Given the description of an element on the screen output the (x, y) to click on. 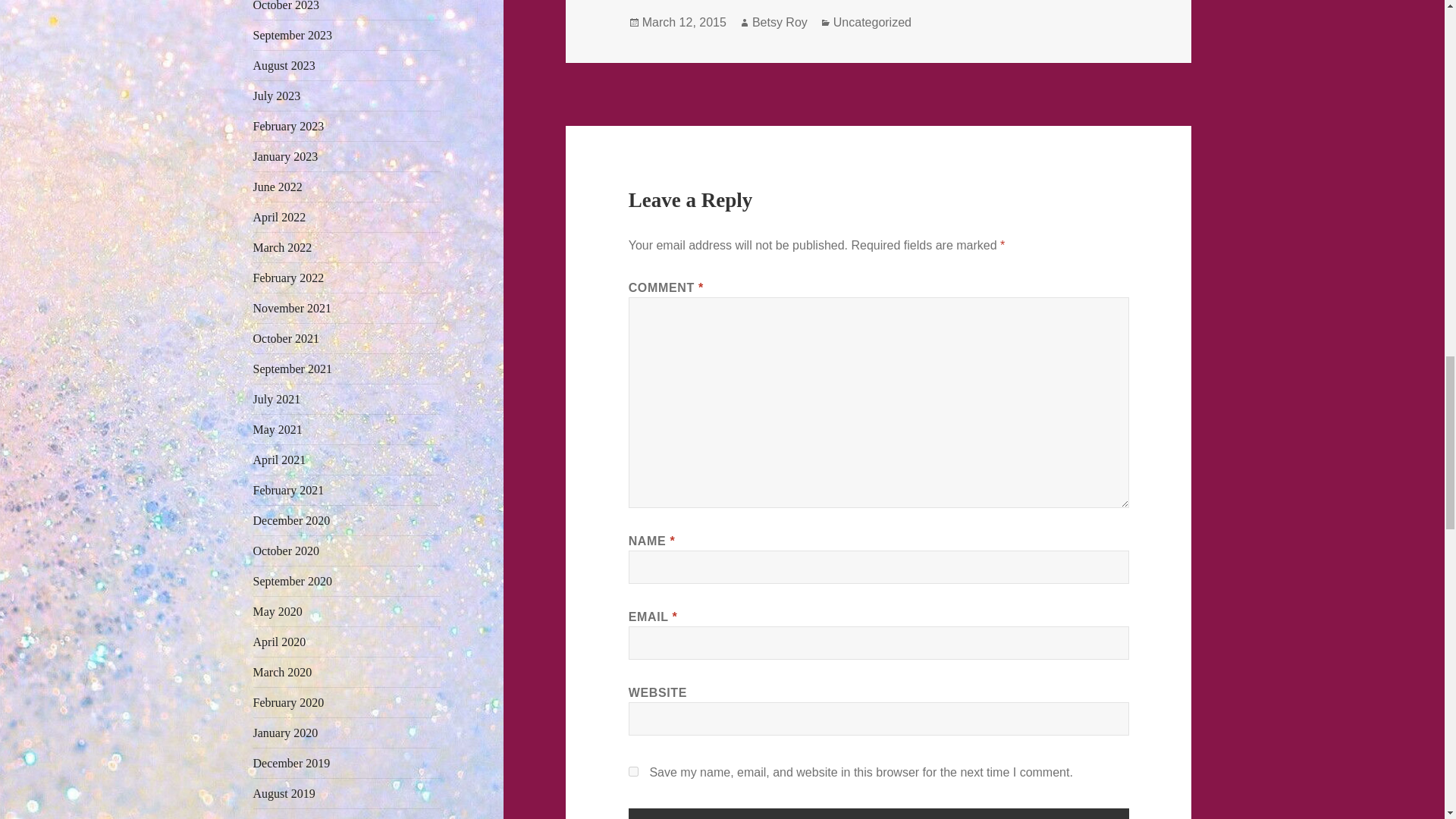
yes (633, 771)
Post Comment (878, 813)
October 2023 (286, 5)
February 2023 (288, 125)
June 2022 (277, 186)
July 2023 (277, 95)
September 2023 (292, 34)
January 2023 (285, 155)
August 2023 (284, 65)
